Given the description of an element on the screen output the (x, y) to click on. 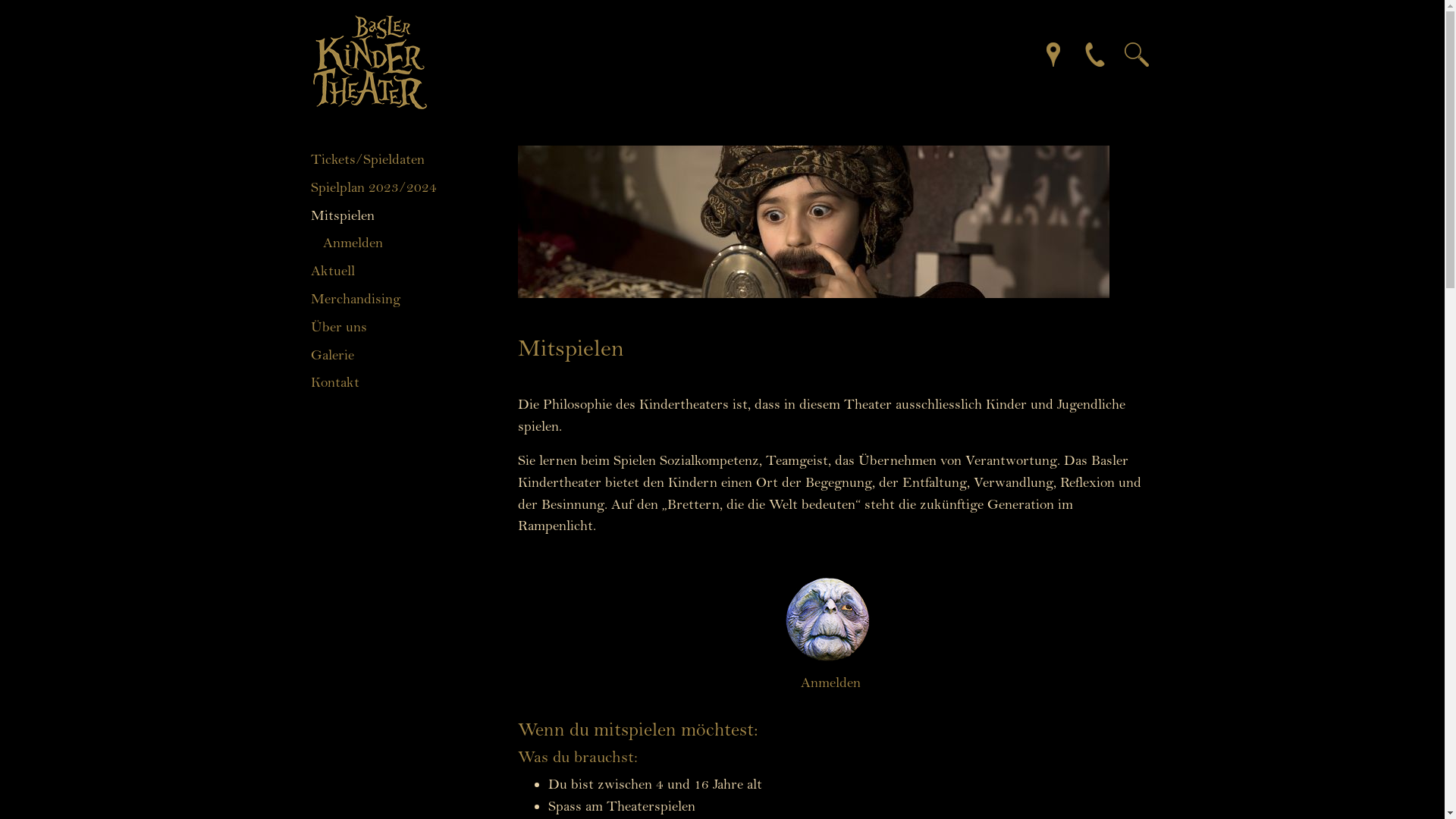
Tickets/Spieldaten Element type: text (398, 159)
Merchandising Element type: text (398, 299)
Aktuell Element type: text (398, 271)
Suchen Element type: hover (1124, 52)
Anmelden Element type: text (830, 682)
Kontakt Element type: hover (1083, 52)
Anfahrt Element type: hover (1040, 52)
Spielplan 2023/2024 Element type: text (398, 187)
Kontakt Element type: text (398, 382)
Anmelden Element type: text (404, 243)
Mitspielen Element type: text (398, 215)
Galerie Element type: text (398, 355)
